Given the description of an element on the screen output the (x, y) to click on. 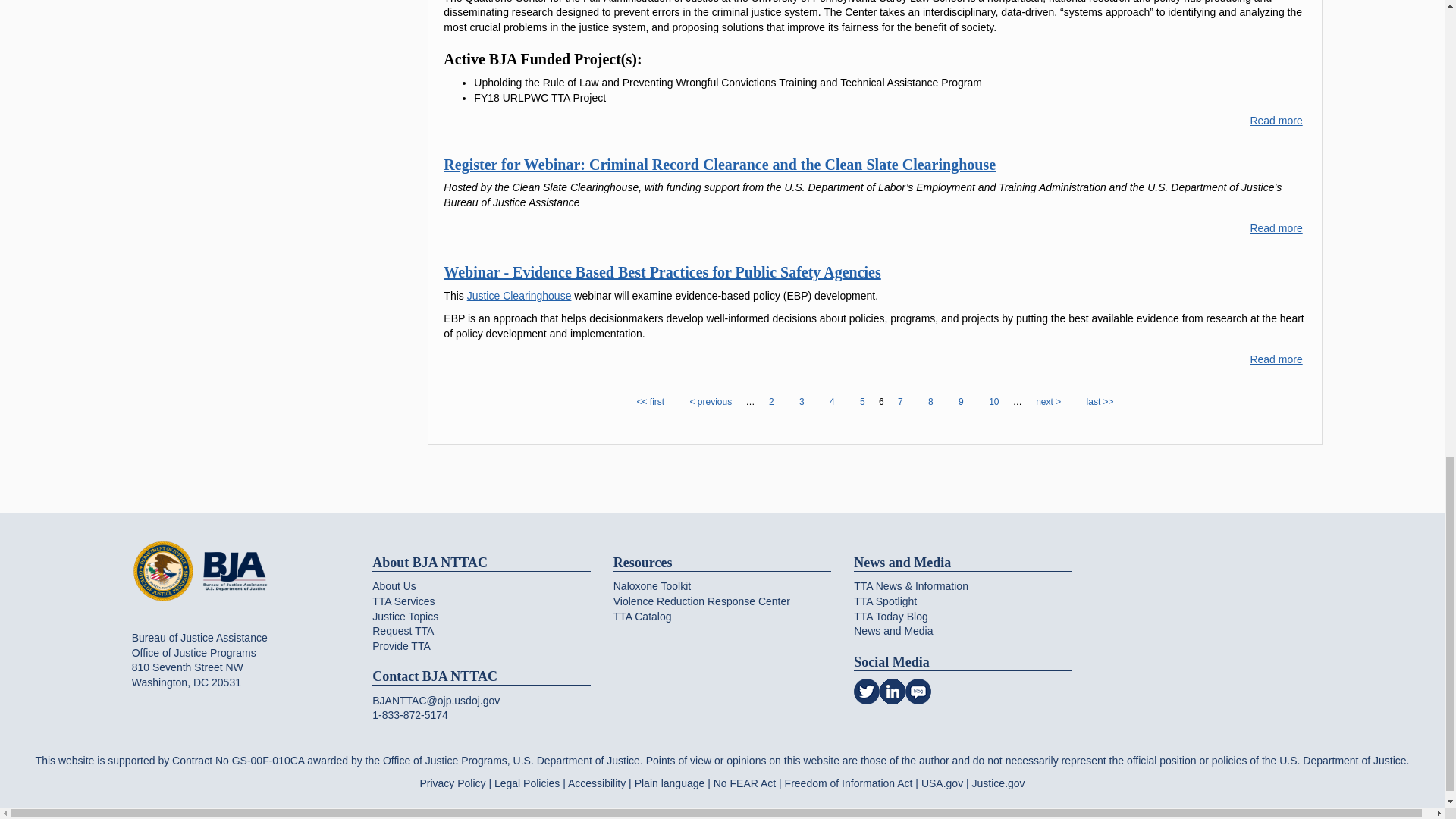
Go to page 2 (771, 402)
Go to first page (649, 402)
Trustees of the University of Pennsylvania (1275, 120)
Go to previous page (710, 402)
